Given the description of an element on the screen output the (x, y) to click on. 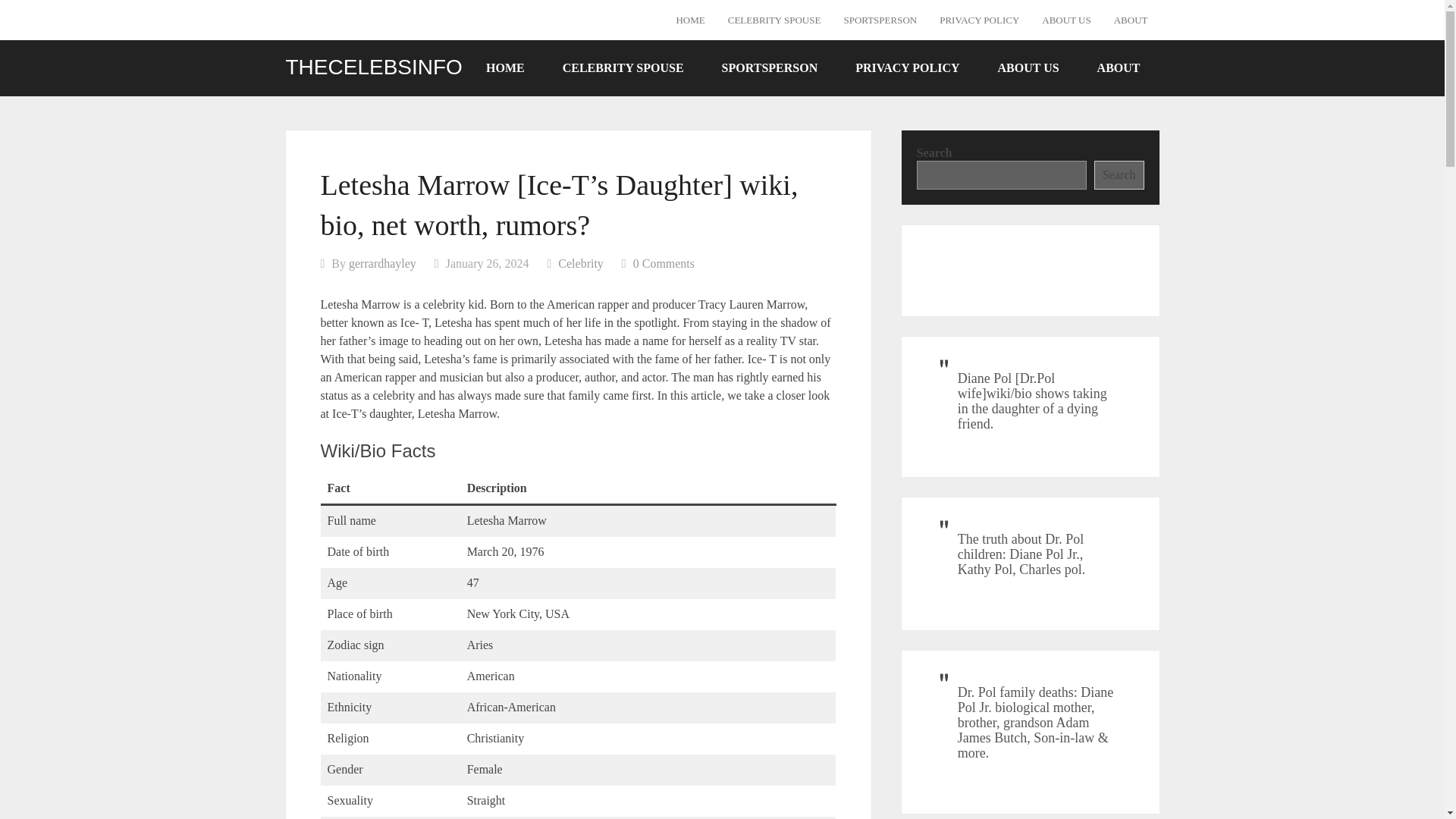
ABOUT (1130, 20)
CELEBRITY SPOUSE (774, 20)
ABOUT (1118, 67)
Posts by gerrardhayley (382, 263)
ABOUT US (1066, 20)
PRIVACY POLICY (979, 20)
gerrardhayley (382, 263)
Search (1119, 174)
SPORTSPERSON (879, 20)
